Given the description of an element on the screen output the (x, y) to click on. 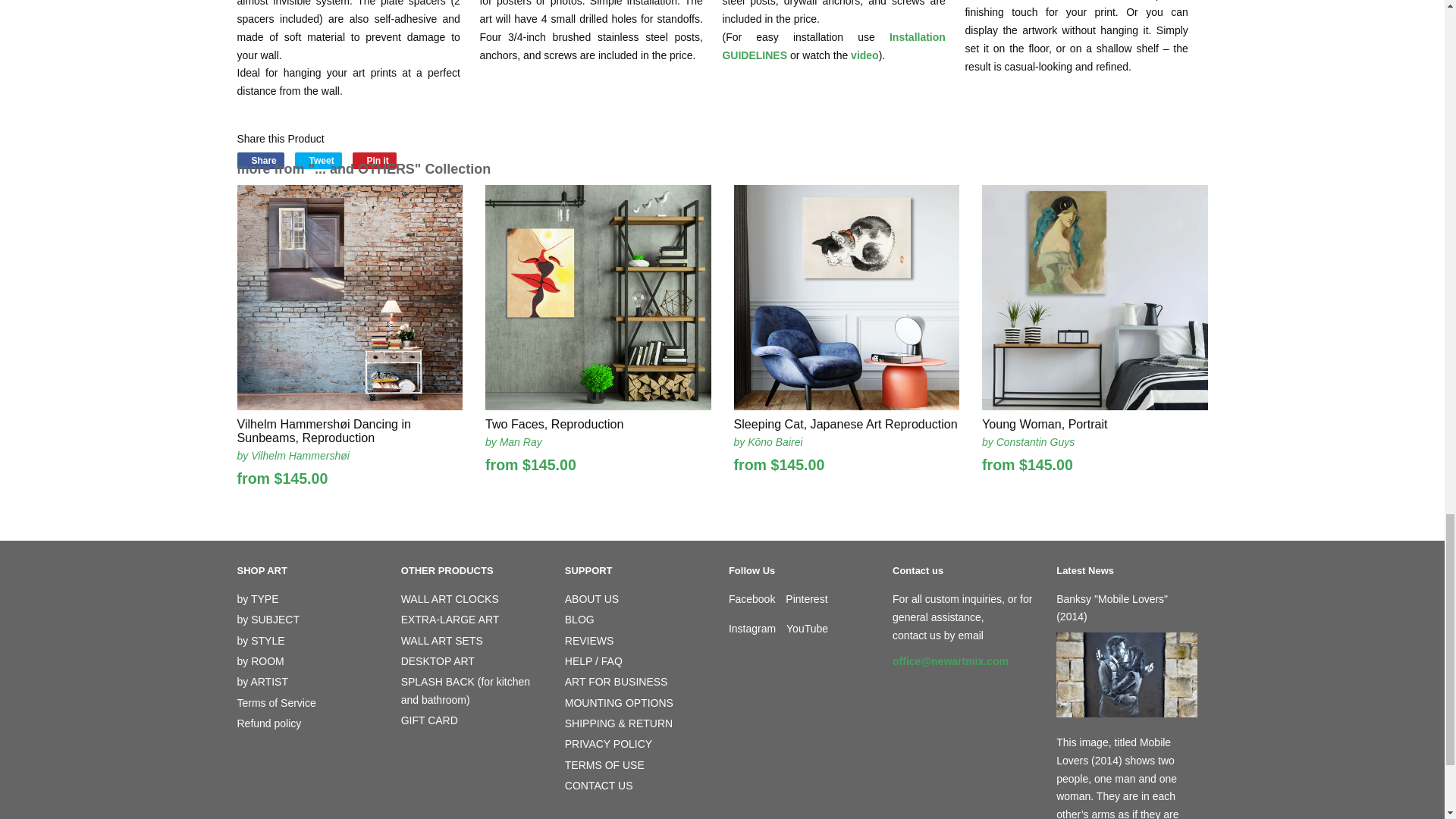
Contact Us (950, 661)
newARTmix on Pinterest (806, 598)
newARTmix on Instagram (752, 628)
Pin on Pinterest (374, 160)
newARTmix on YouTube (807, 628)
Tweet on Twitter (318, 160)
Share on Facebook (259, 160)
newARTmix on Facebook (751, 598)
